Given the description of an element on the screen output the (x, y) to click on. 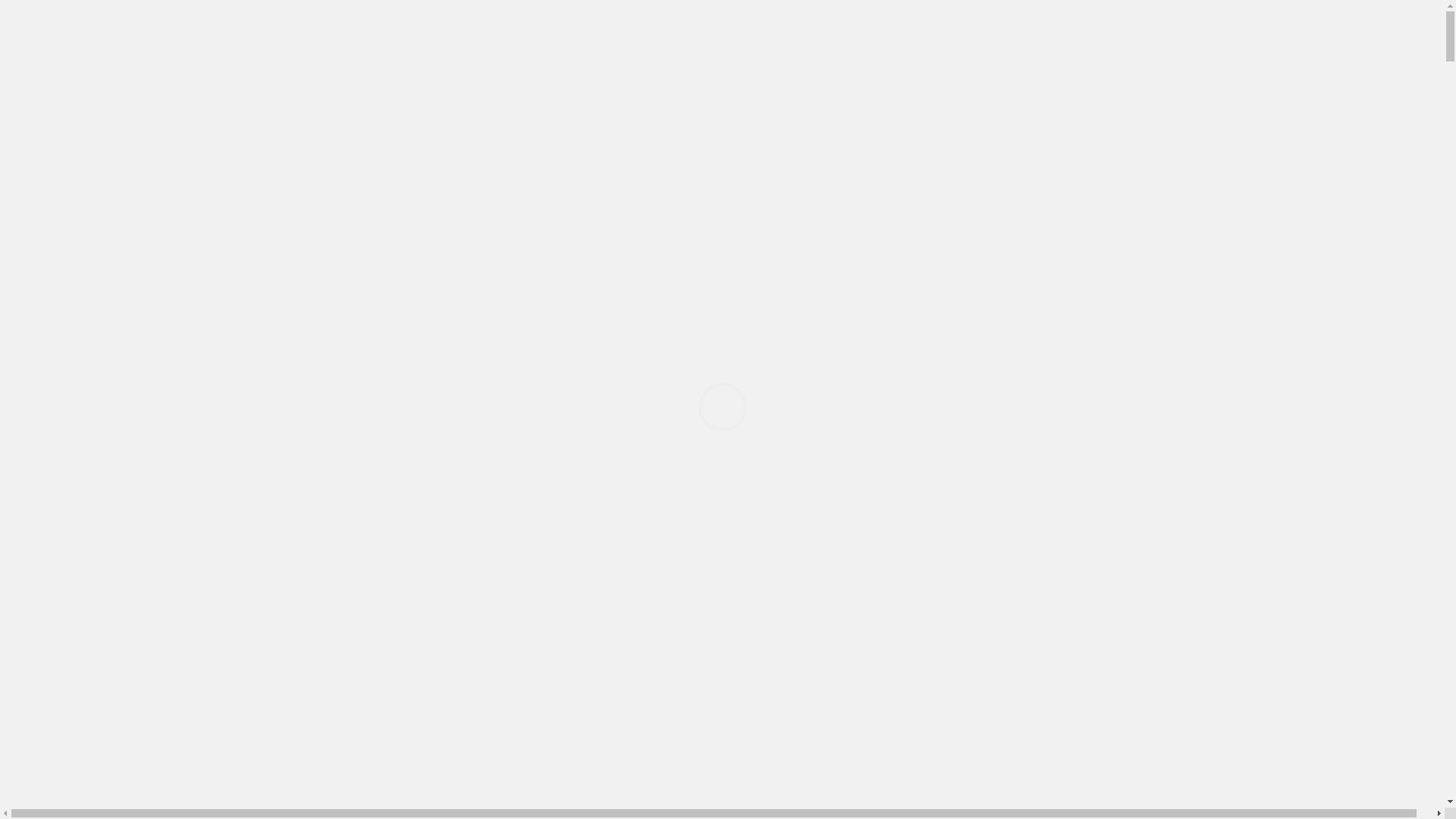
Qurban Wakalah Element type: text (76, 573)
qurban@mecfoundation.org.au Element type: text (81, 658)
Close Element type: text (86, 155)
Contact Element type: text (55, 537)
MEC Foundation Element type: text (108, 173)
Close Element type: text (86, 373)
International Qurban Organisation Element type: text (149, 282)
Terms & Privacy Policy Element type: text (124, 228)
Media Element type: text (57, 428)
Home Element type: text (50, 118)
Our Organisations Element type: text (110, 410)
Videos Element type: text (83, 519)
Blog Element type: text (78, 482)
Zakat & Donation Element type: text (1212, 66)
The Qurban Organisation Process Element type: text (148, 300)
Zakat & Donation Element type: text (80, 555)
Close Element type: text (86, 264)
Close Element type: text (86, 446)
Corporate Element type: text (65, 137)
info@mecfoundation.org.au Element type: text (74, 686)
Zakat & Sadaqah Organisation Element type: text (141, 391)
TR Element type: text (81, 51)
Zakat Organisation Element type: text (88, 355)
Our Catalogue Element type: text (102, 501)
Our Organisations Element type: text (110, 337)
MEC Lifestyle Element type: text (102, 209)
Activity Zone Element type: text (100, 319)
Qurban Organisation Element type: text (92, 246)
News and Publications Element type: text (122, 464)
